Given the description of an element on the screen output the (x, y) to click on. 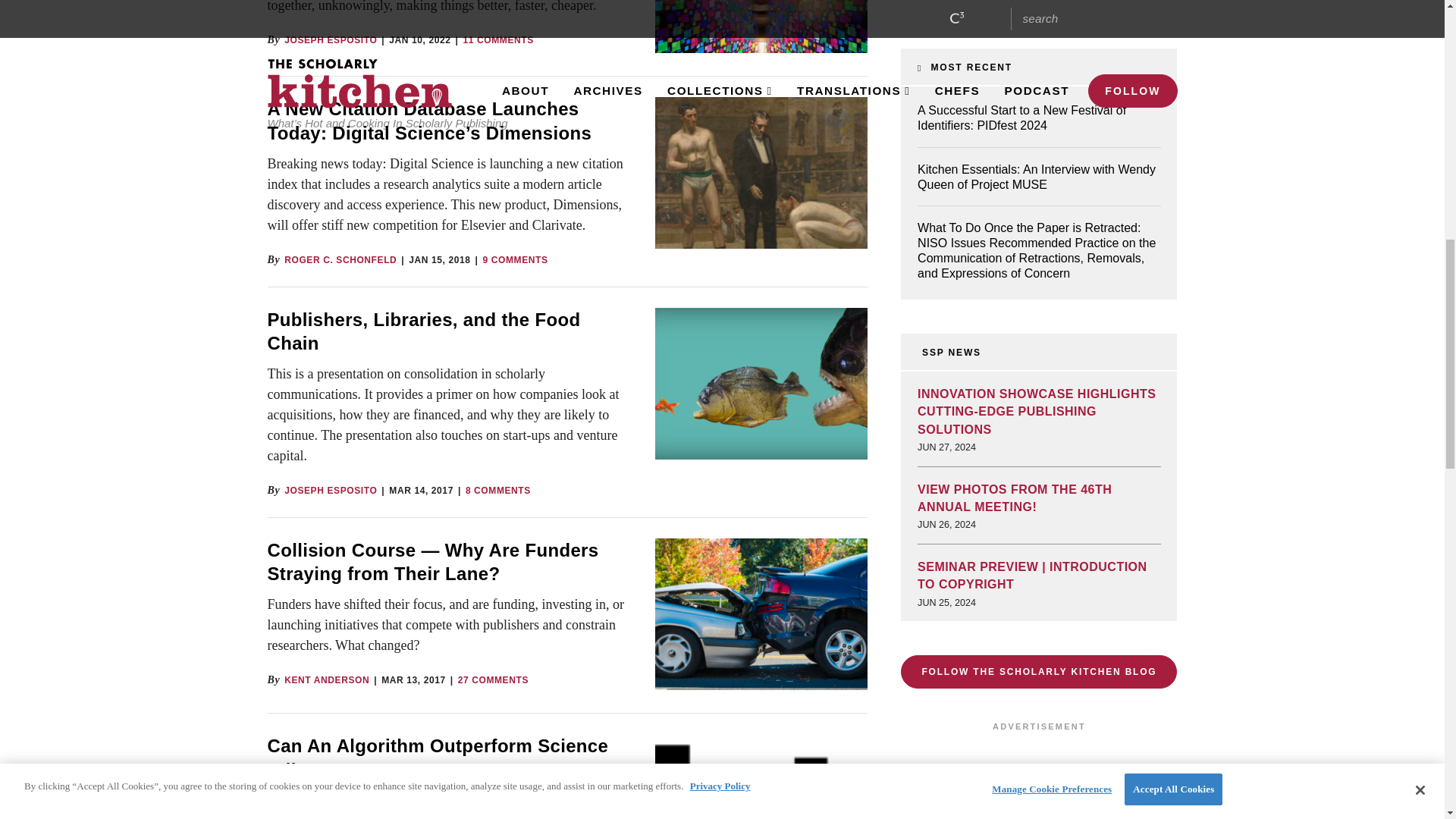
Posts by Joseph Esposito (330, 490)
Posts by Kent Anderson (326, 679)
Posts by Roger C. Schonfeld (339, 259)
Posts by Joseph Esposito (330, 40)
